Given the description of an element on the screen output the (x, y) to click on. 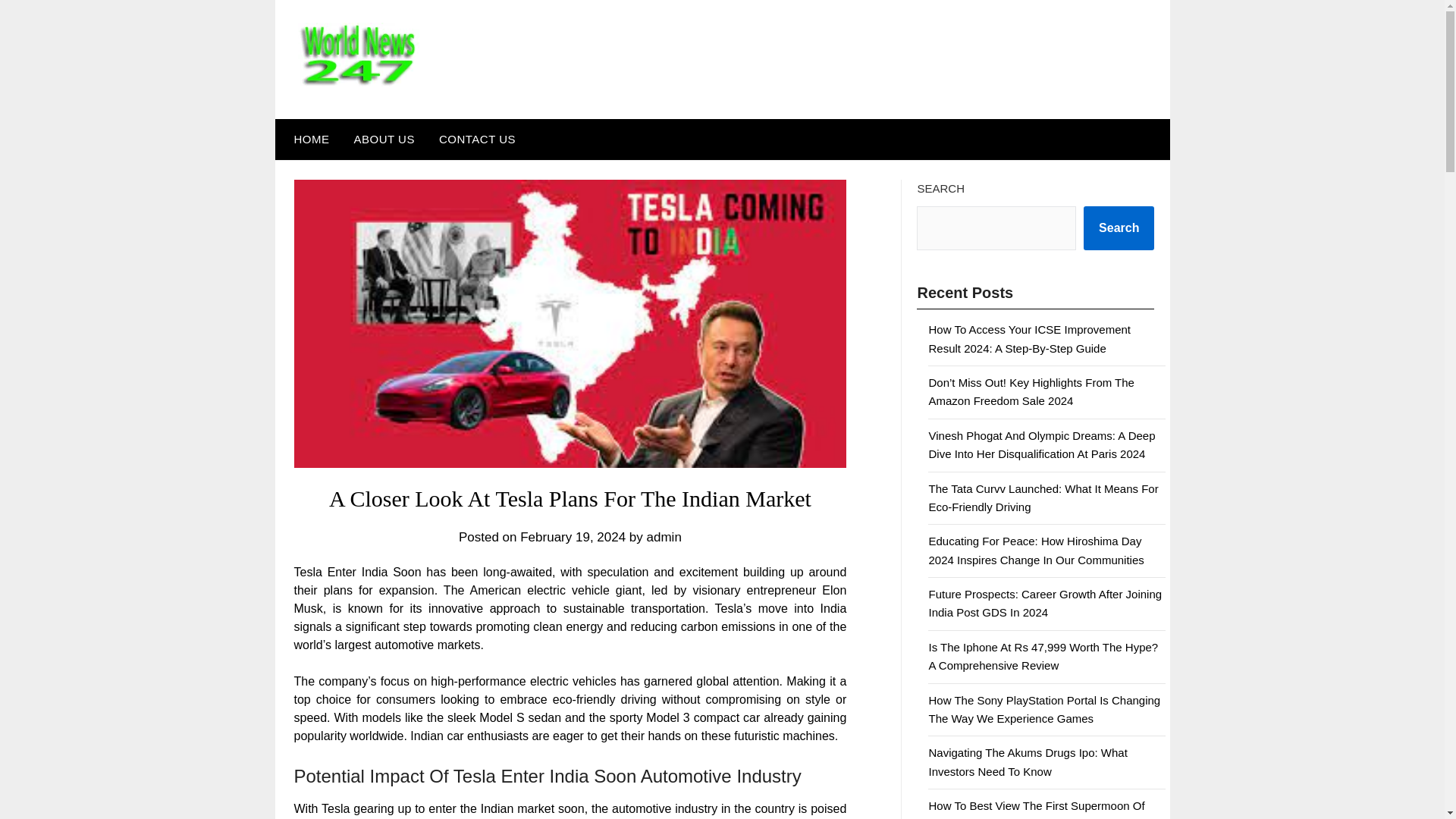
HOME (307, 138)
February 19, 2024 (572, 536)
CONTACT US (476, 138)
admin (663, 536)
Search (1118, 228)
Navigating The Akums Drugs Ipo: What Investors Need To Know (1027, 761)
